Given the description of an element on the screen output the (x, y) to click on. 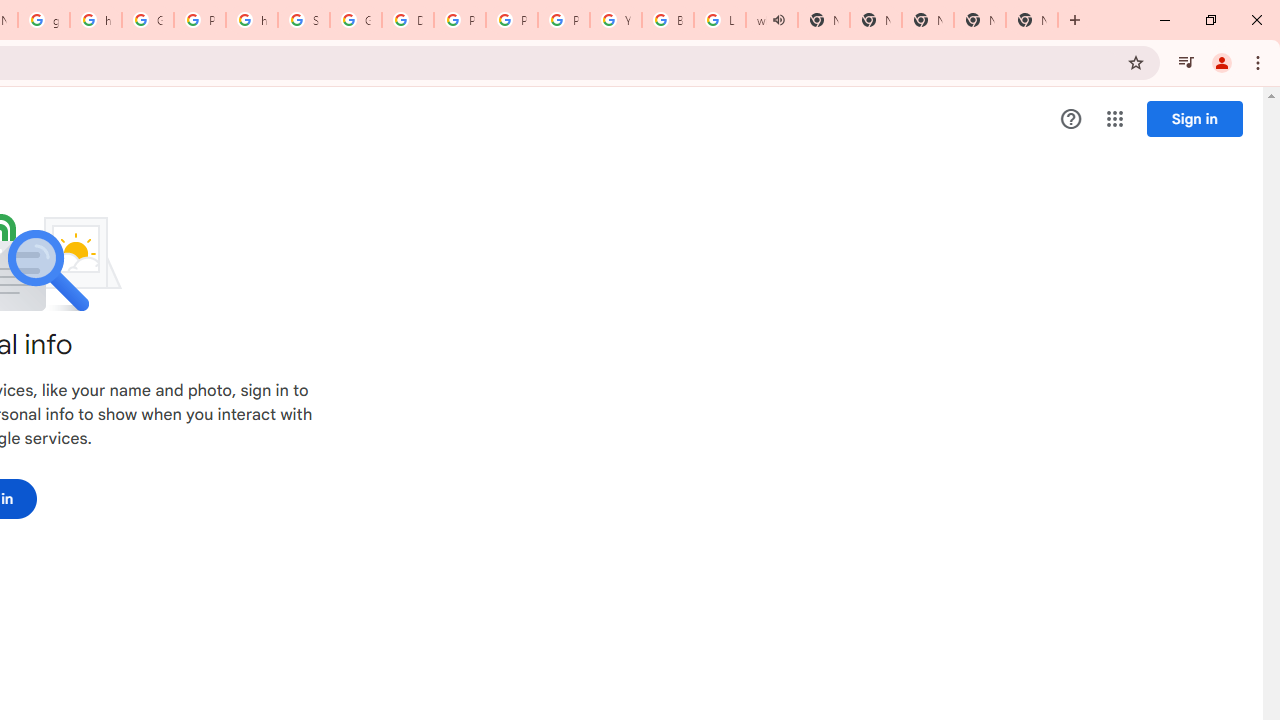
https://scholar.google.com/ (251, 20)
https://scholar.google.com/ (95, 20)
